Given the description of an element on the screen output the (x, y) to click on. 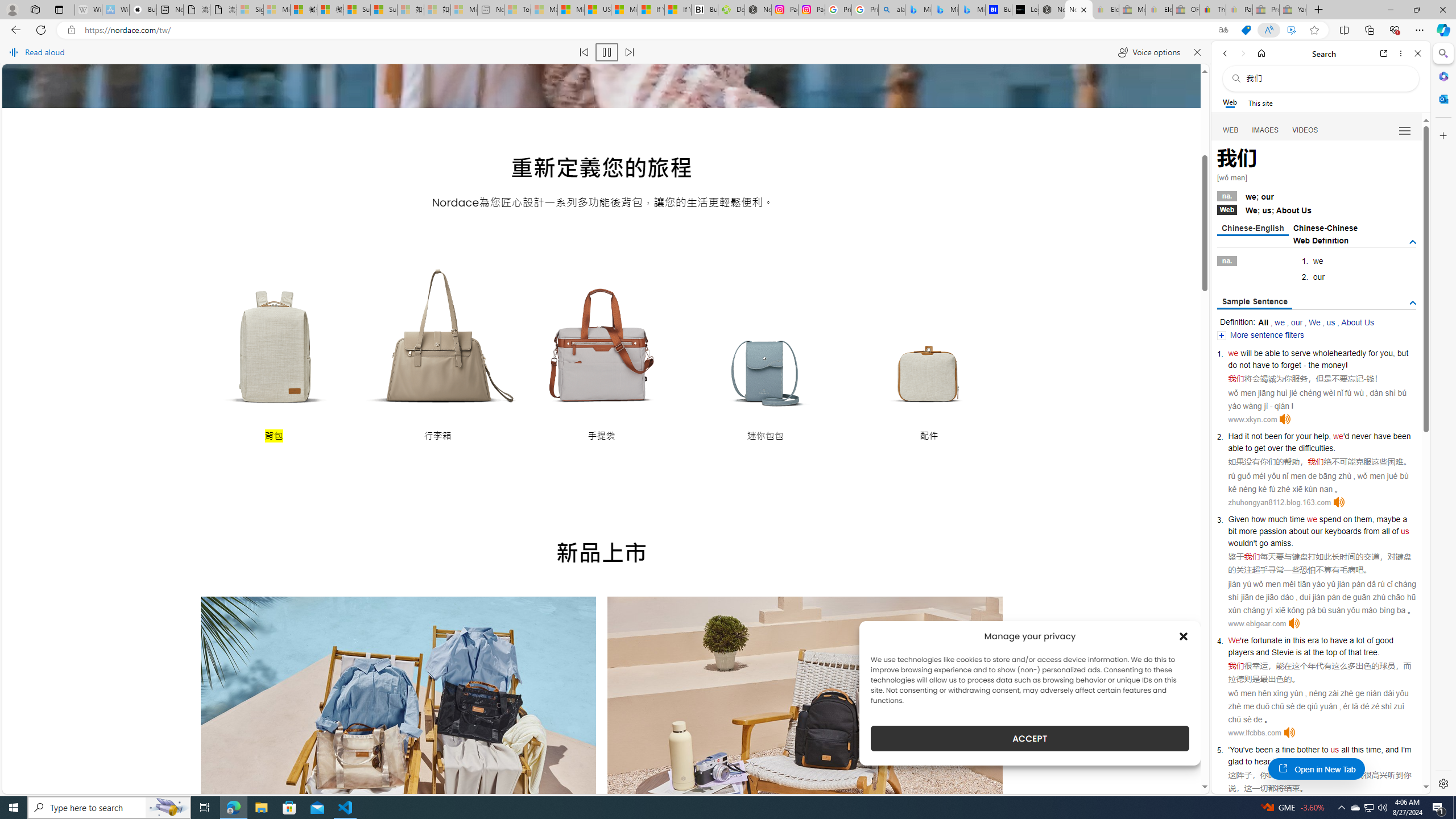
Descarga Driver Updater (731, 9)
glad (1235, 760)
Us (1306, 209)
but (1402, 352)
